Given the description of an element on the screen output the (x, y) to click on. 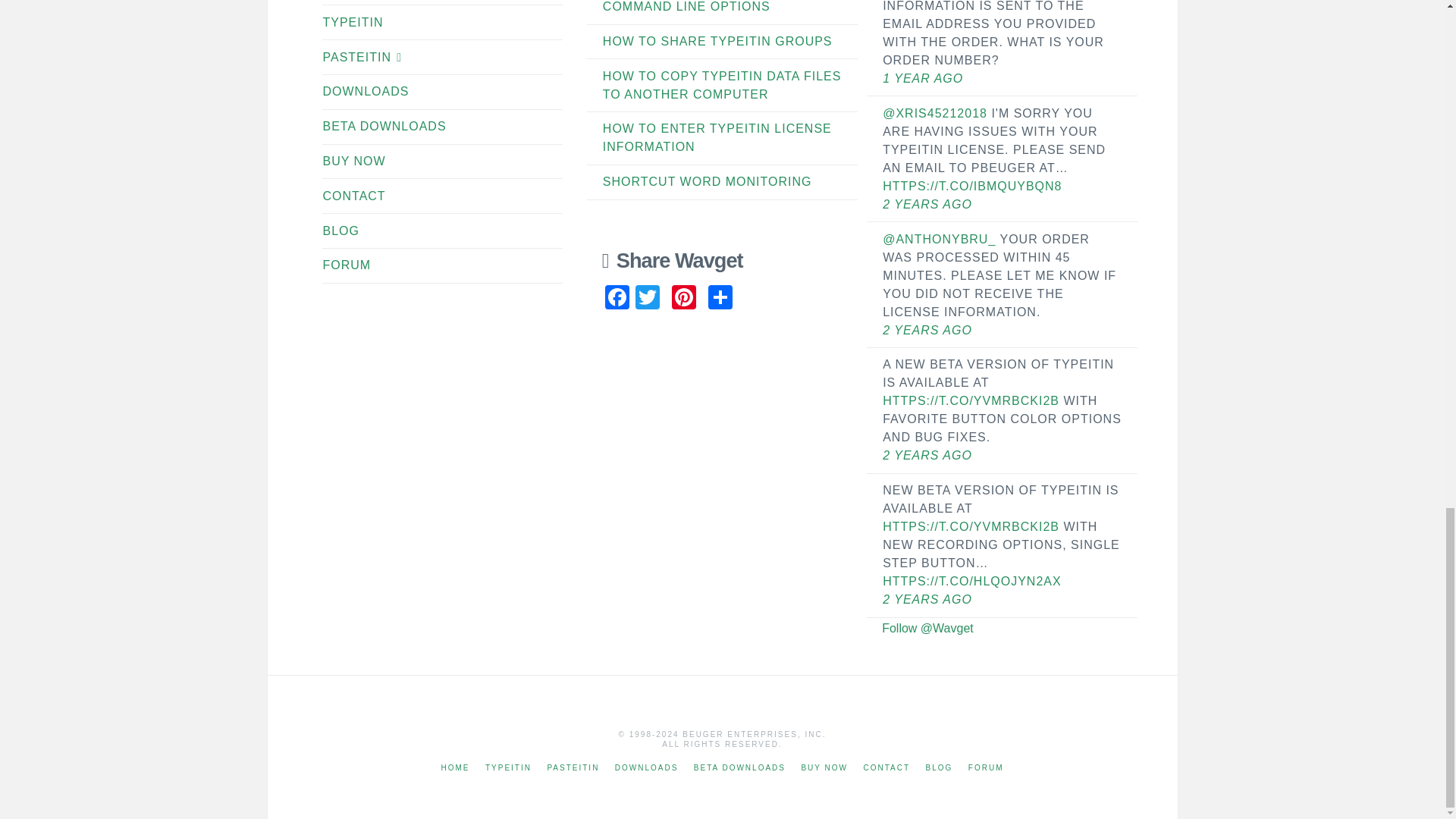
BETA DOWNLOADS (392, 126)
PASTEITIN (370, 57)
DOWNLOADS (374, 91)
FORUM (355, 265)
SHORTCUT WORD MONITORING (707, 181)
TYPEITIN (360, 22)
BLOG (348, 230)
Facebook (616, 298)
Pinterest (683, 298)
Twitter (646, 298)
BUY NOW (362, 161)
Pinterest (683, 298)
HOW TO ENTER TYPEITIN LICENSE INFORMATION (716, 137)
TYPEITIN SILENT INSTALLER WITH COMMAND LINE OPTIONS (715, 6)
HOW TO SHARE TYPEITIN GROUPS (717, 41)
